Given the description of an element on the screen output the (x, y) to click on. 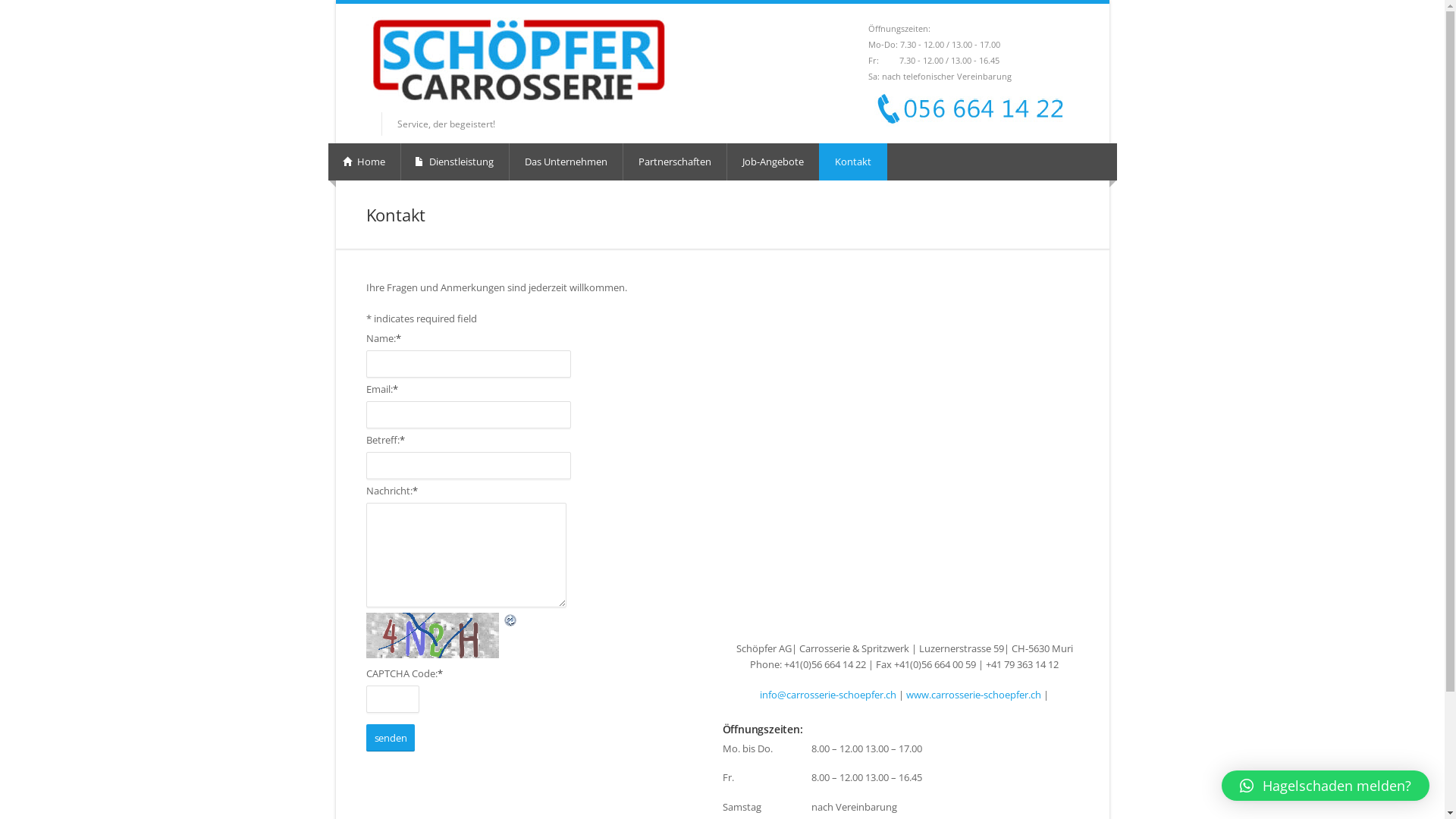
senden Element type: text (389, 736)
info@carrosserie-schoepfer.ch Element type: text (827, 694)
Hagelschaden melden? Element type: text (1325, 785)
Job-Angebote Element type: text (772, 161)
www.carrosserie-schoepfer.ch Element type: text (973, 694)
Das Unternehmen Element type: text (566, 161)
Dienstleistung Element type: text (454, 161)
Refresh Element type: hover (460, 619)
CAPTCHA Element type: hover (433, 635)
Home Element type: text (365, 161)
Partnerschaften Element type: text (675, 161)
Kontakt Element type: text (853, 161)
